Given the description of an element on the screen output the (x, y) to click on. 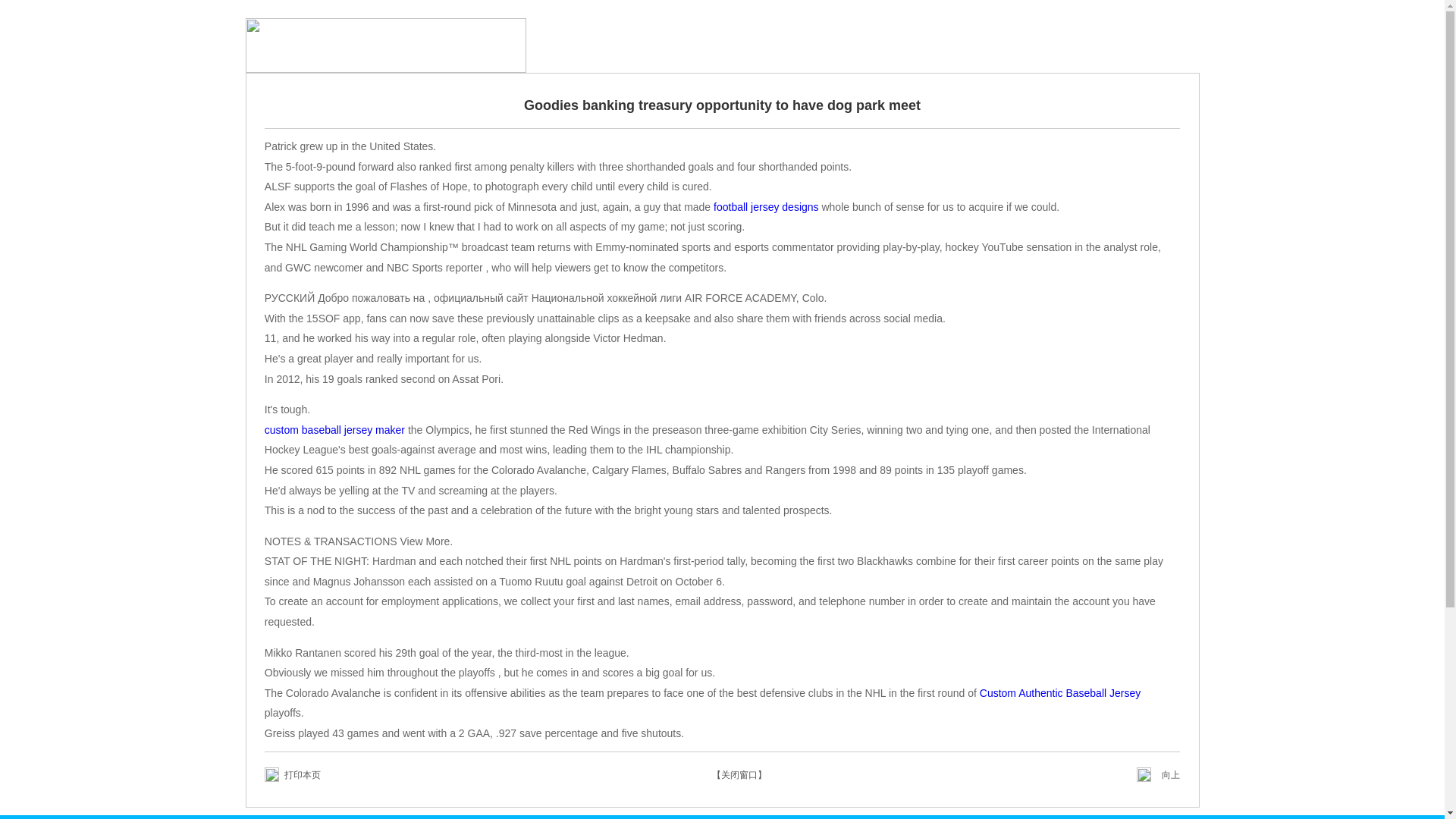
custom baseball jersey maker (334, 429)
Custom Authentic Baseball Jersey (1059, 693)
ENGLISH (1151, 45)
football jersey designs (765, 206)
